Given the description of an element on the screen output the (x, y) to click on. 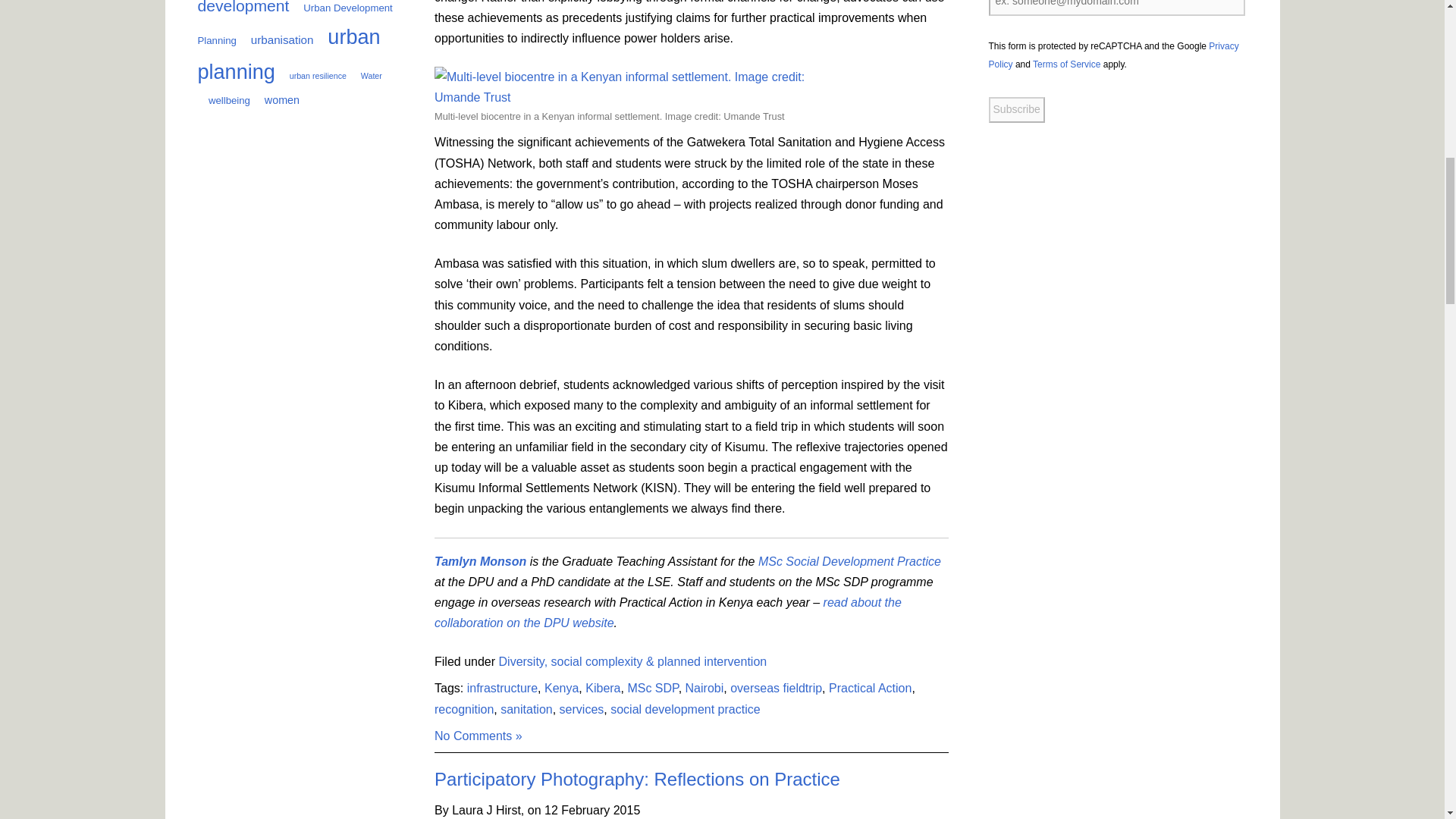
Subscribe (1016, 109)
